Given the description of an element on the screen output the (x, y) to click on. 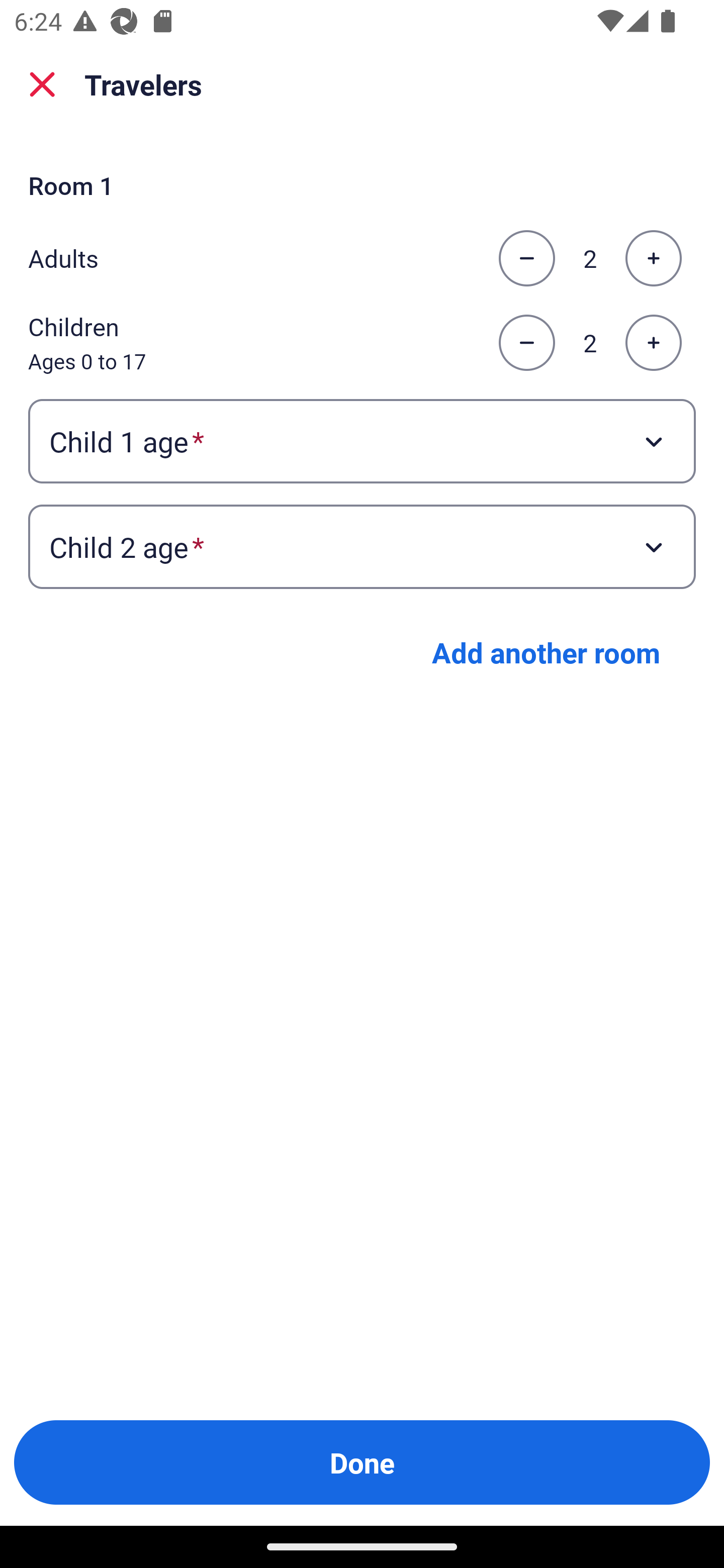
close (42, 84)
Decrease the number of adults (526, 258)
Increase the number of adults (653, 258)
Decrease the number of children (526, 343)
Increase the number of children (653, 343)
Child 1 age required Button (361, 440)
Child 2 age required Button (361, 546)
Add another room (545, 651)
Done (361, 1462)
